Given the description of an element on the screen output the (x, y) to click on. 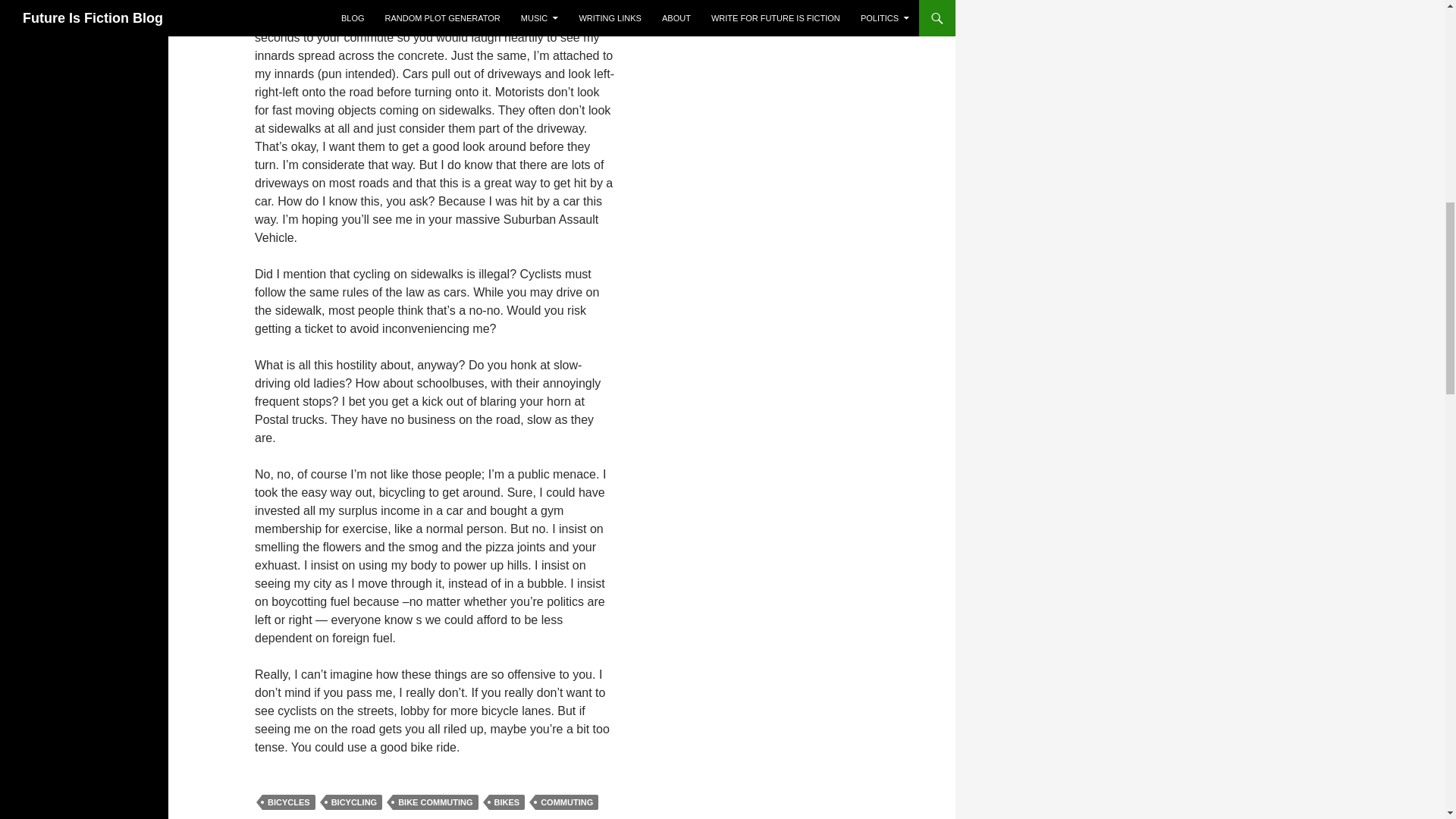
BICYCLING (354, 801)
BICYCLES (288, 801)
BIKES (507, 801)
COMMUTING (566, 801)
BIKE COMMUTING (435, 801)
